Given the description of an element on the screen output the (x, y) to click on. 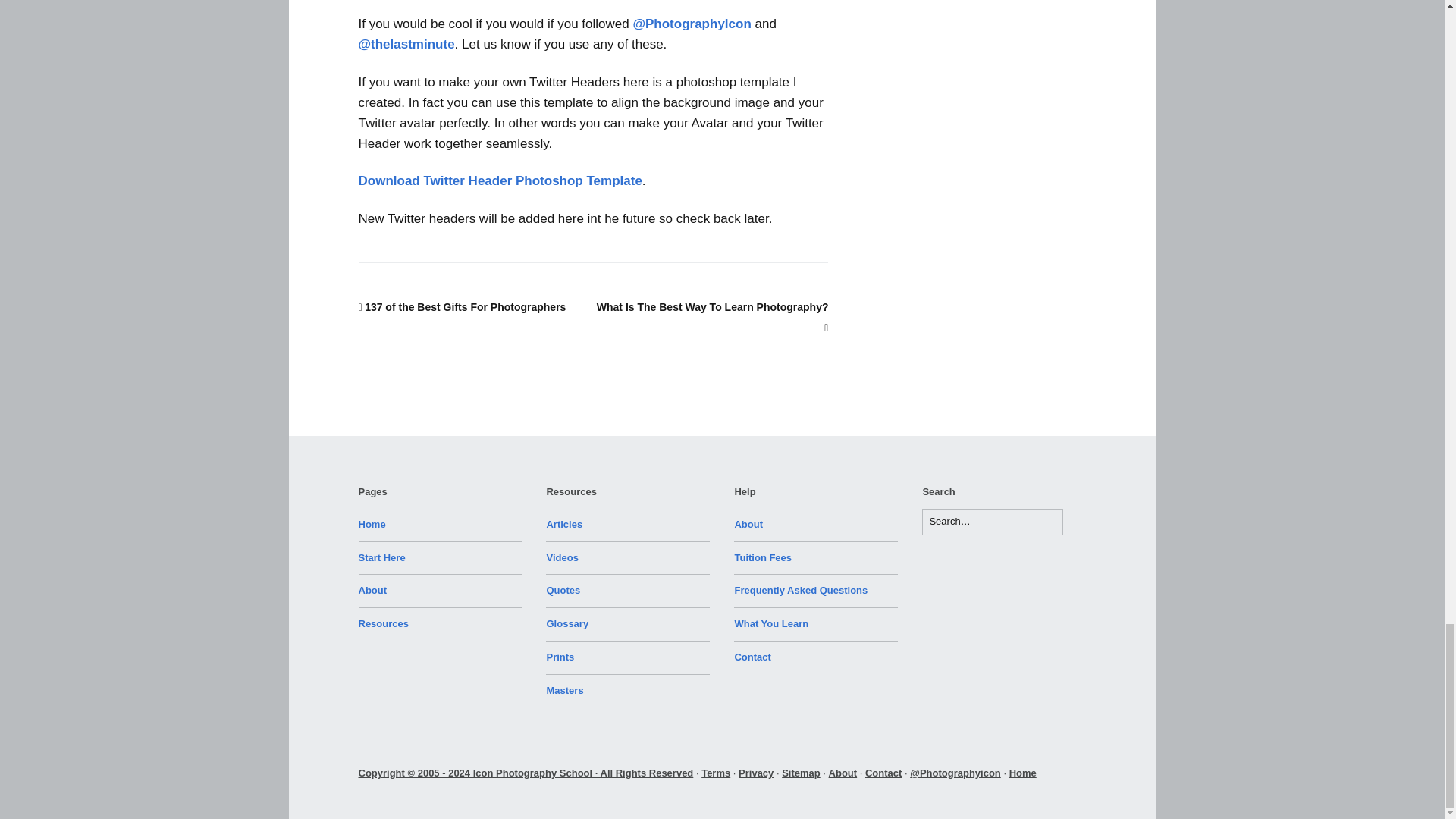
Download Twitter Header Photoshop Template (500, 180)
Home (371, 523)
137 of the Best Gifts For Photographers (462, 306)
What Is The Best Way To Learn Photography? (712, 317)
